Given the description of an element on the screen output the (x, y) to click on. 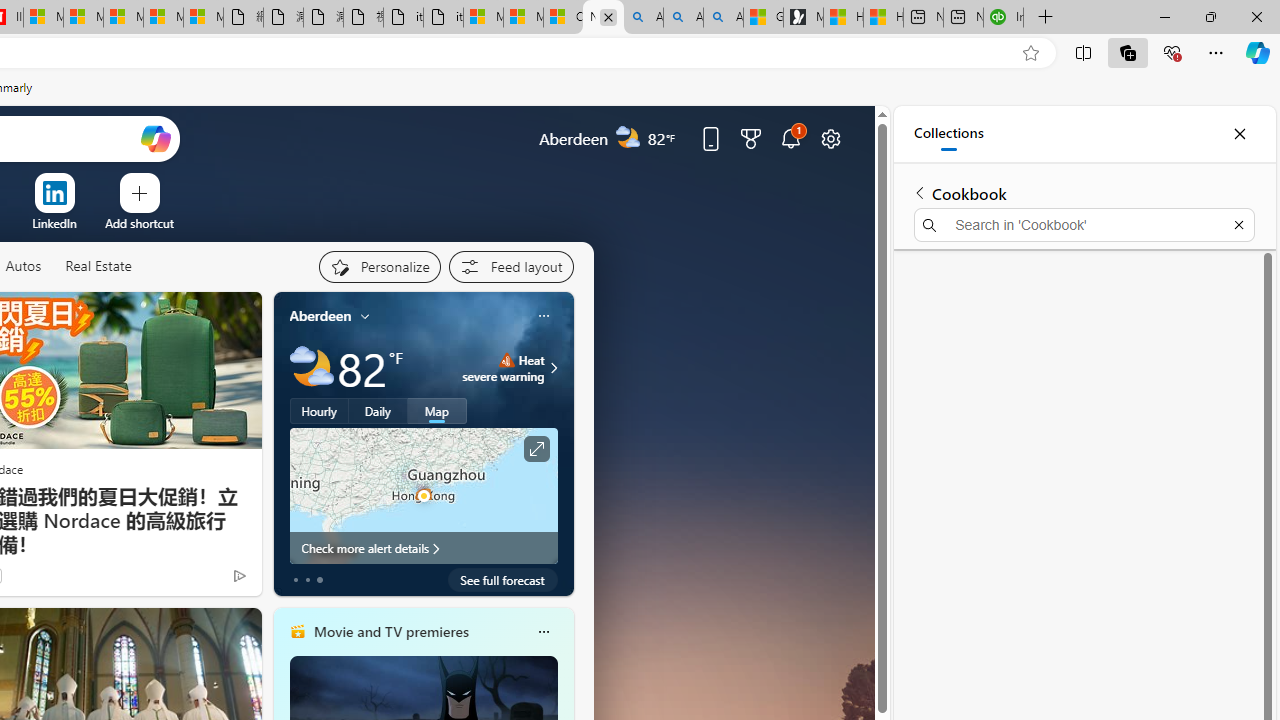
Movie and TV premieres (390, 631)
Intuit QuickBooks Online - Quickbooks (1003, 17)
Aberdeen (320, 315)
Alabama high school quarterback dies - Search Videos (723, 17)
Page settings (831, 138)
Larger map  (423, 495)
Partly cloudy (311, 368)
Back to list of collections (920, 192)
Heat - Severe (505, 359)
Feed settings (510, 266)
